Given the description of an element on the screen output the (x, y) to click on. 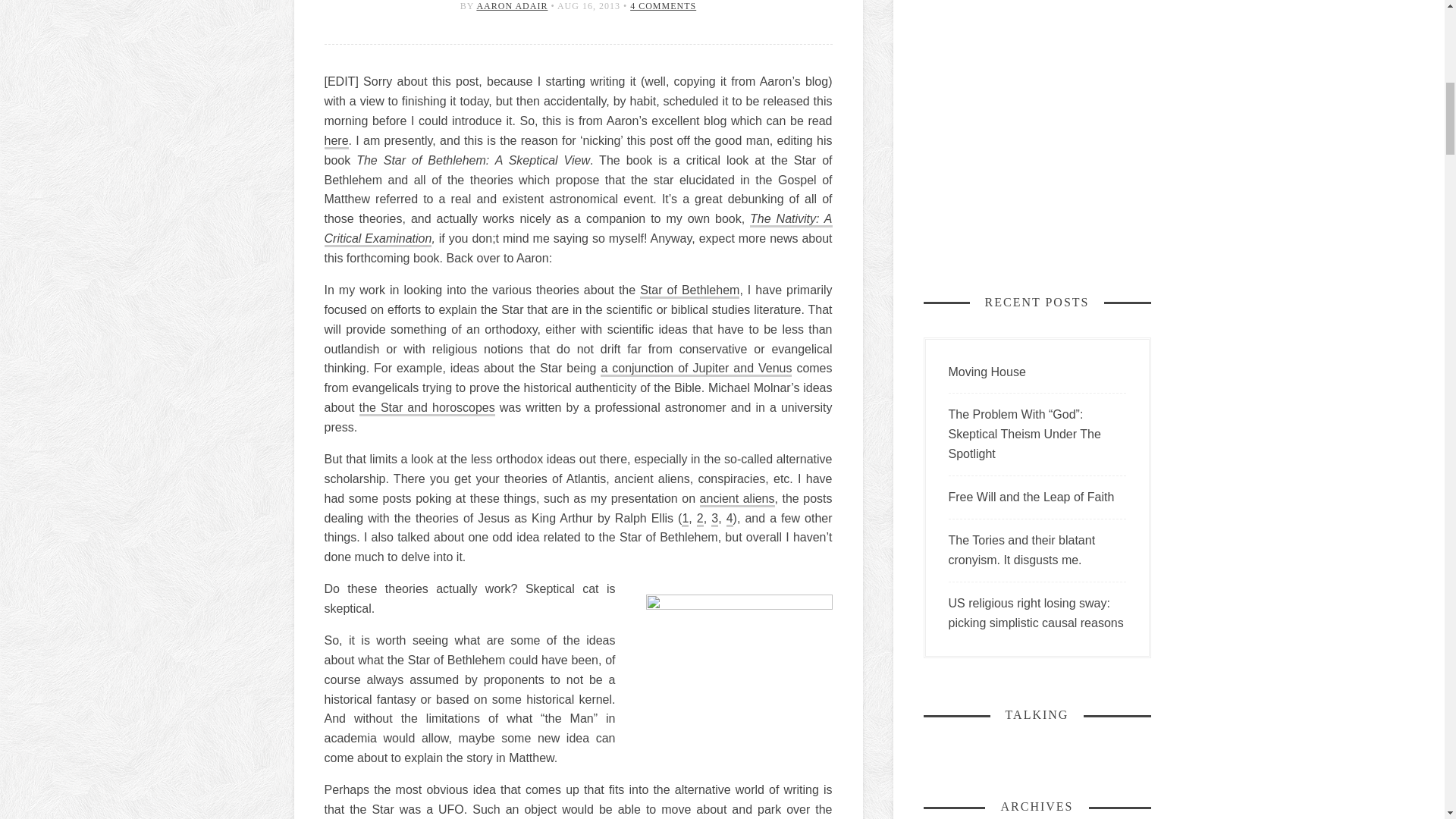
Advertisement (1037, 122)
